Given the description of an element on the screen output the (x, y) to click on. 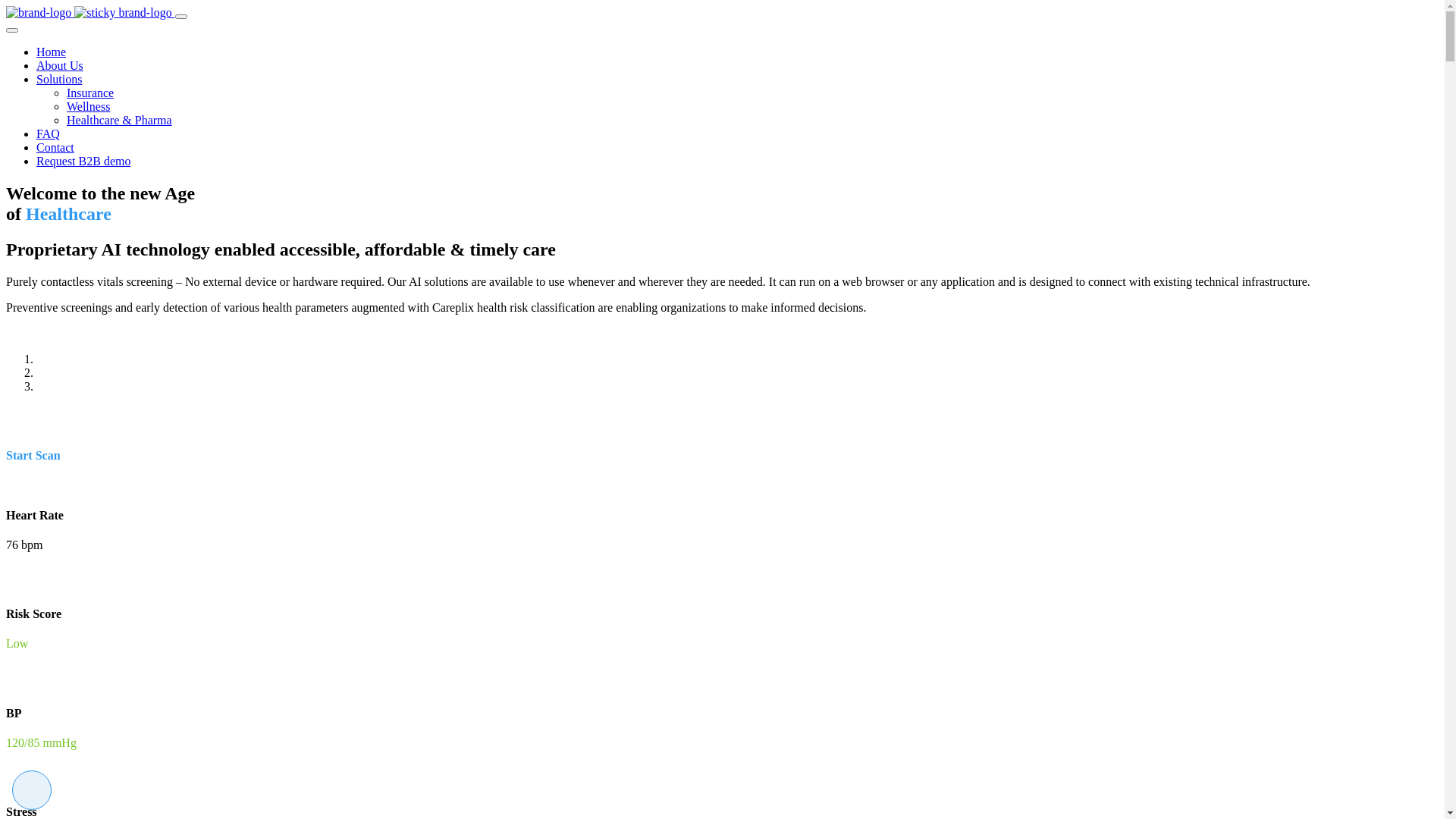
About Us Element type: text (59, 65)
Request B2B demo Element type: text (83, 160)
Insurance Element type: text (89, 92)
Contact Element type: text (55, 147)
Wellness Element type: text (87, 106)
Home Element type: text (50, 51)
Solutions Element type: text (58, 78)
FAQ Element type: text (47, 133)
Healthcare & Pharma Element type: text (119, 119)
